Given the description of an element on the screen output the (x, y) to click on. 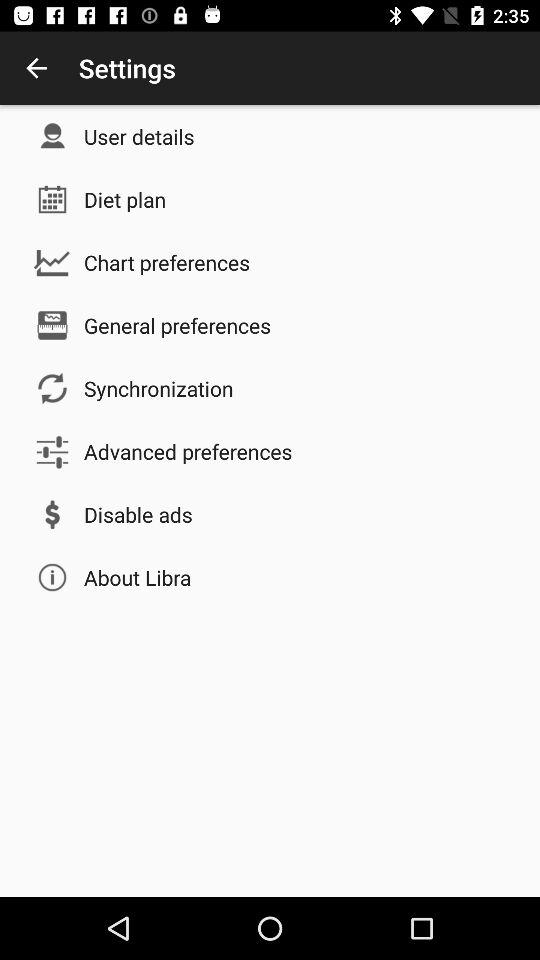
turn off the app below the user details item (125, 199)
